Given the description of an element on the screen output the (x, y) to click on. 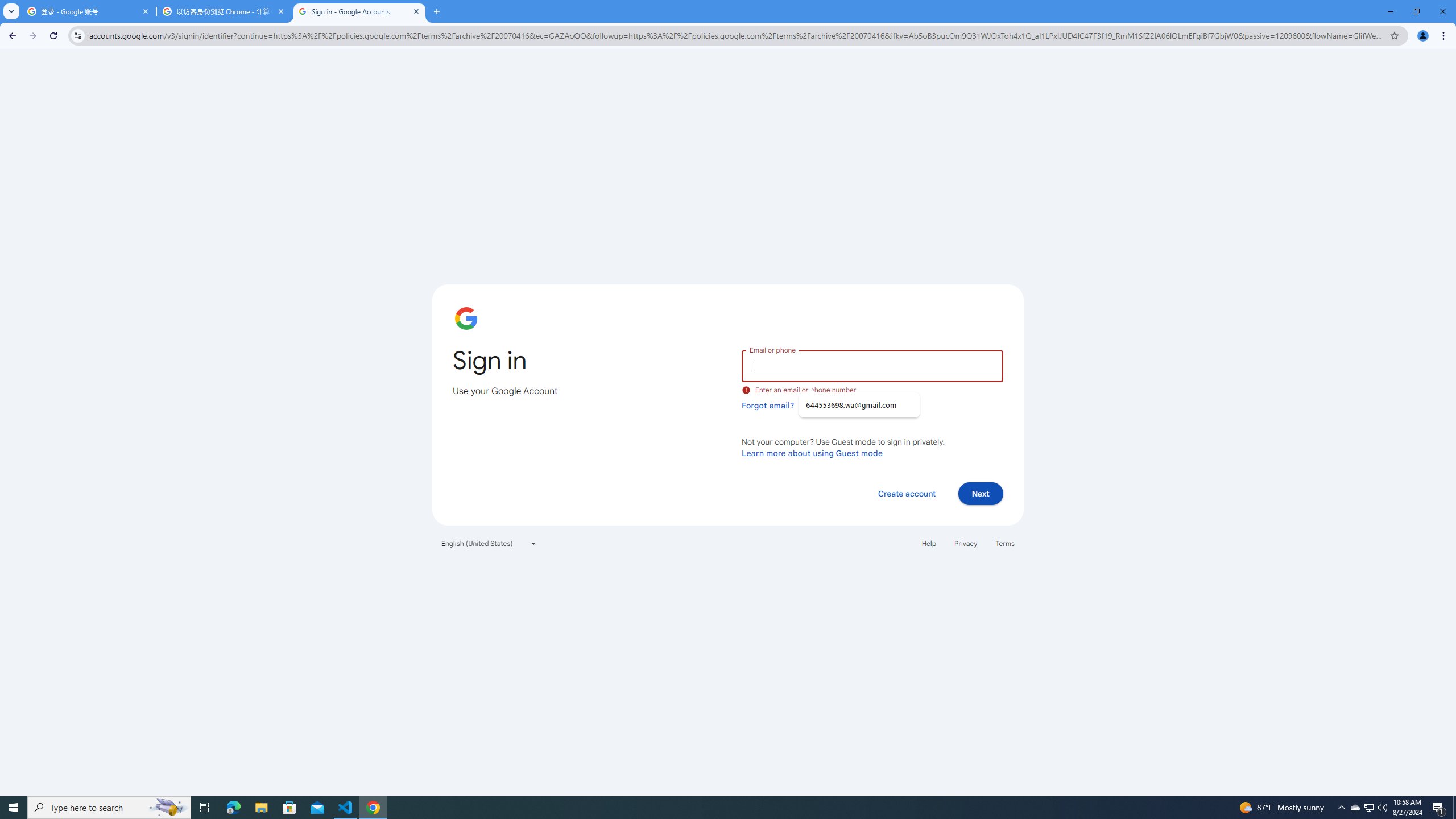
Sign in - Google Accounts (359, 11)
